Given the description of an element on the screen output the (x, y) to click on. 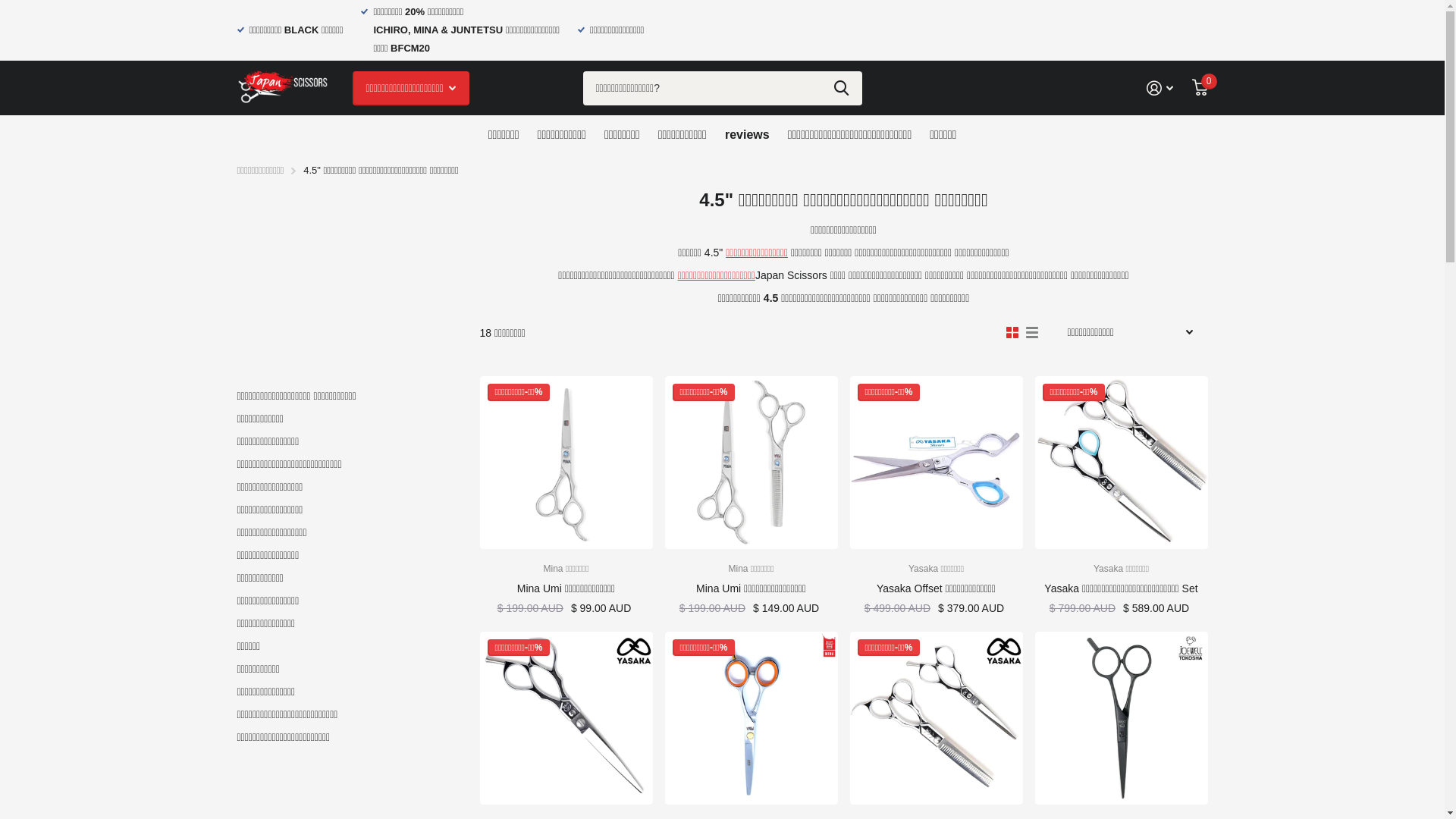
reviews Element type: text (746, 134)
0 Element type: text (1200, 87)
